Given the description of an element on the screen output the (x, y) to click on. 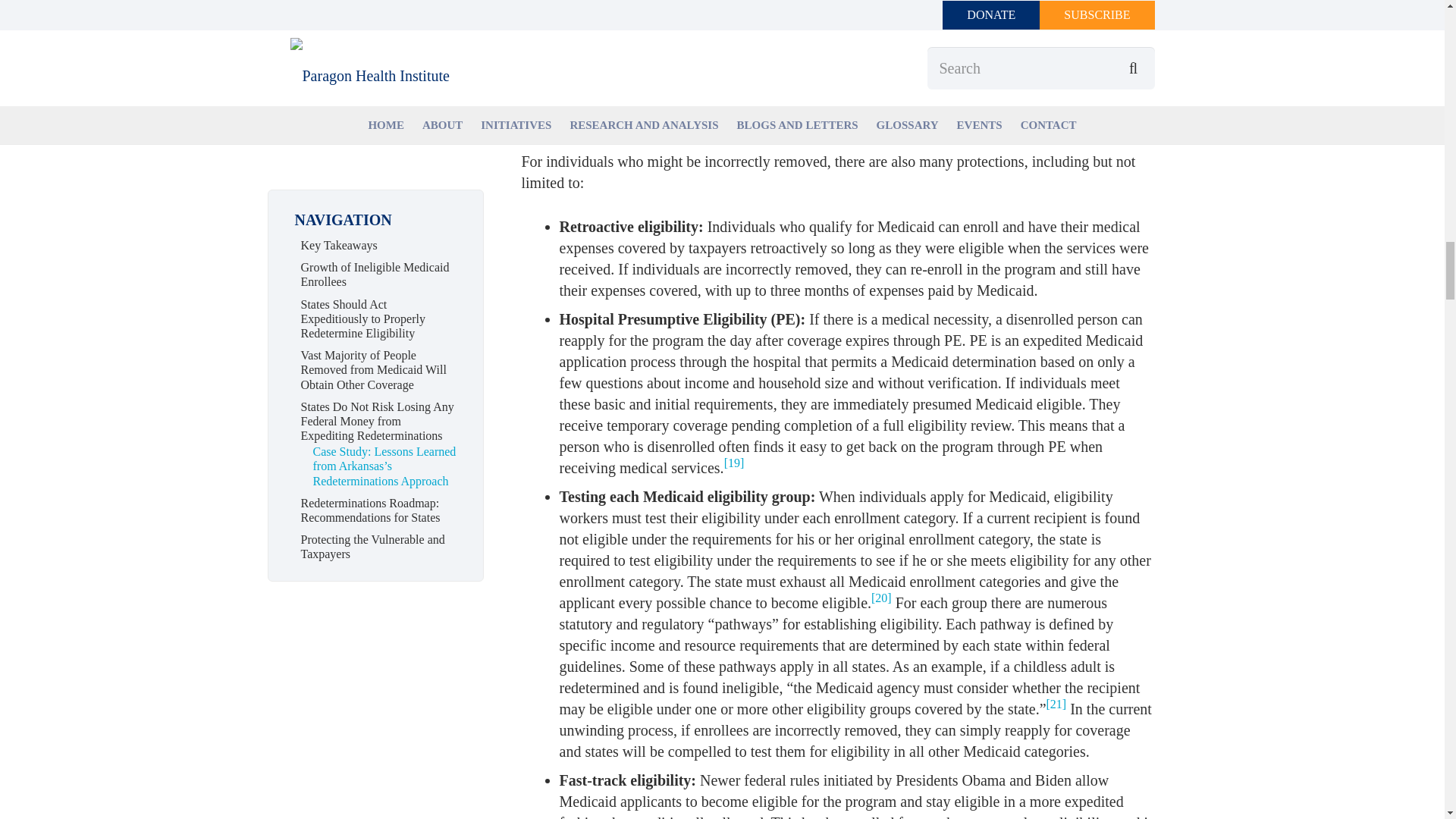
18 (622, 112)
17 (934, 61)
20 (880, 597)
19 (733, 462)
21 (1056, 704)
